Given the description of an element on the screen output the (x, y) to click on. 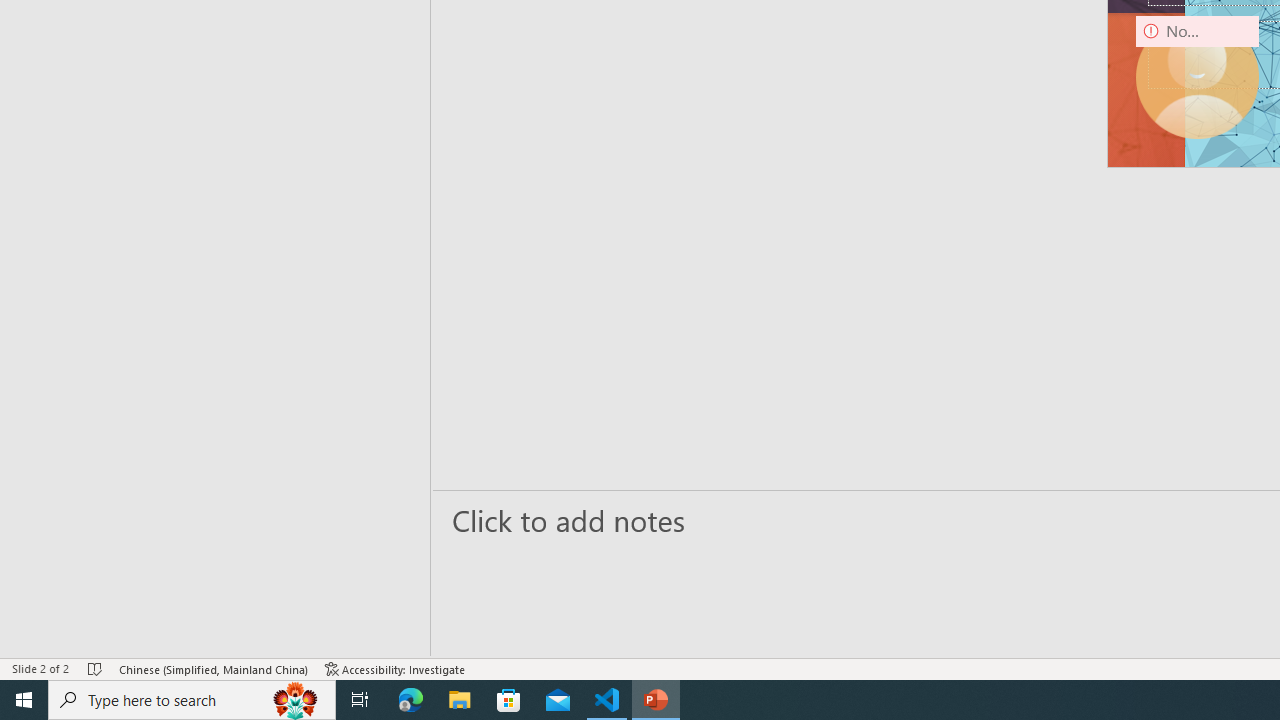
Camera 9, No camera detected. (1197, 77)
